Given the description of an element on the screen output the (x, y) to click on. 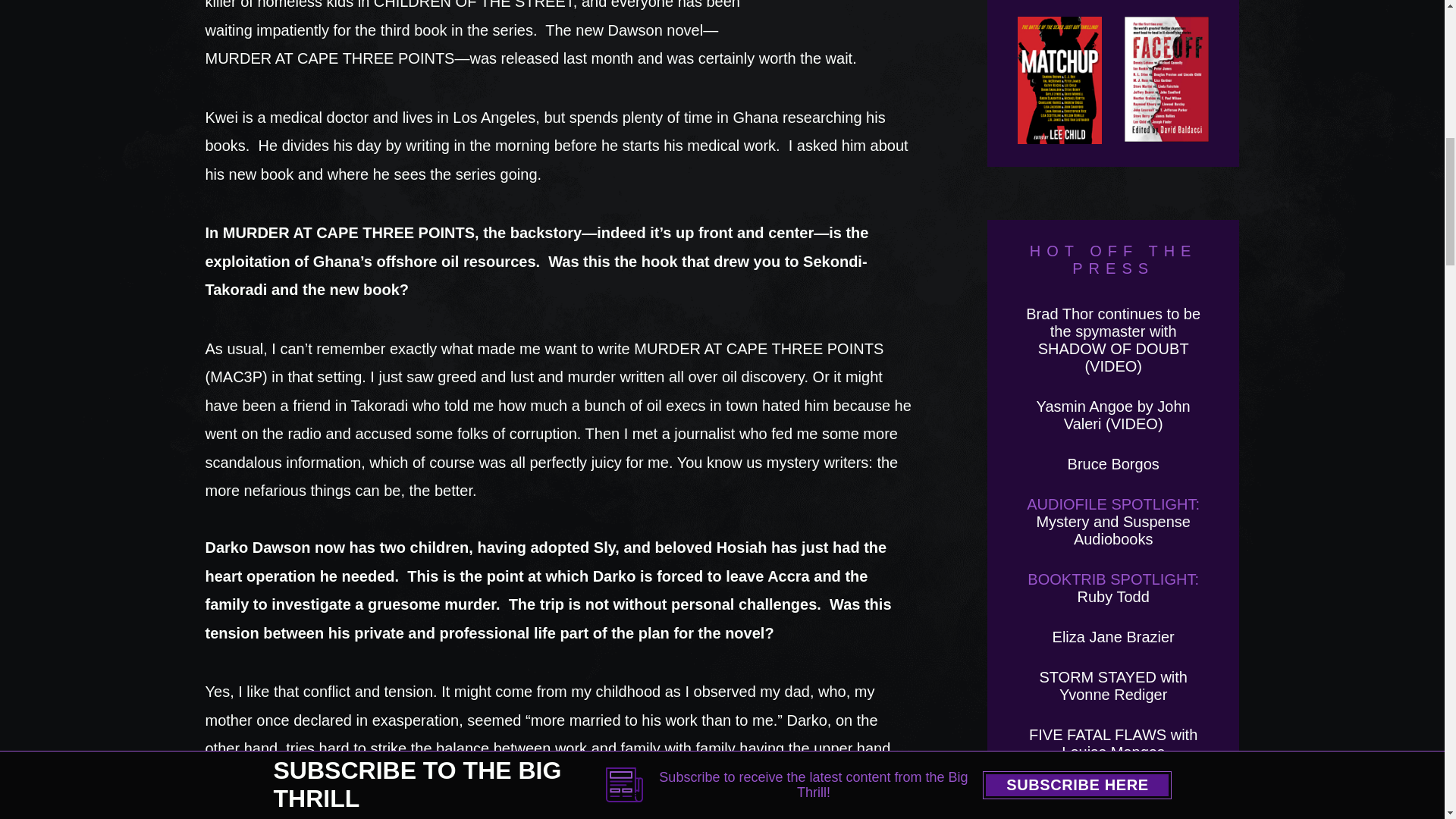
STORM STAYED with Yvonne Rediger (1113, 685)
Booktrib Spotlight: Ruby Todd (1112, 587)
Eliza Jane Brazier (1113, 636)
AudioFile Spotlight: Mystery and Suspense Audiobooks (1112, 521)
FIVE FATAL FLAWS with Louise Mangos (1112, 743)
BREAKING SILENCE with Alan Brenham (1112, 800)
Bruce Borgos (1112, 463)
